Given the description of an element on the screen output the (x, y) to click on. 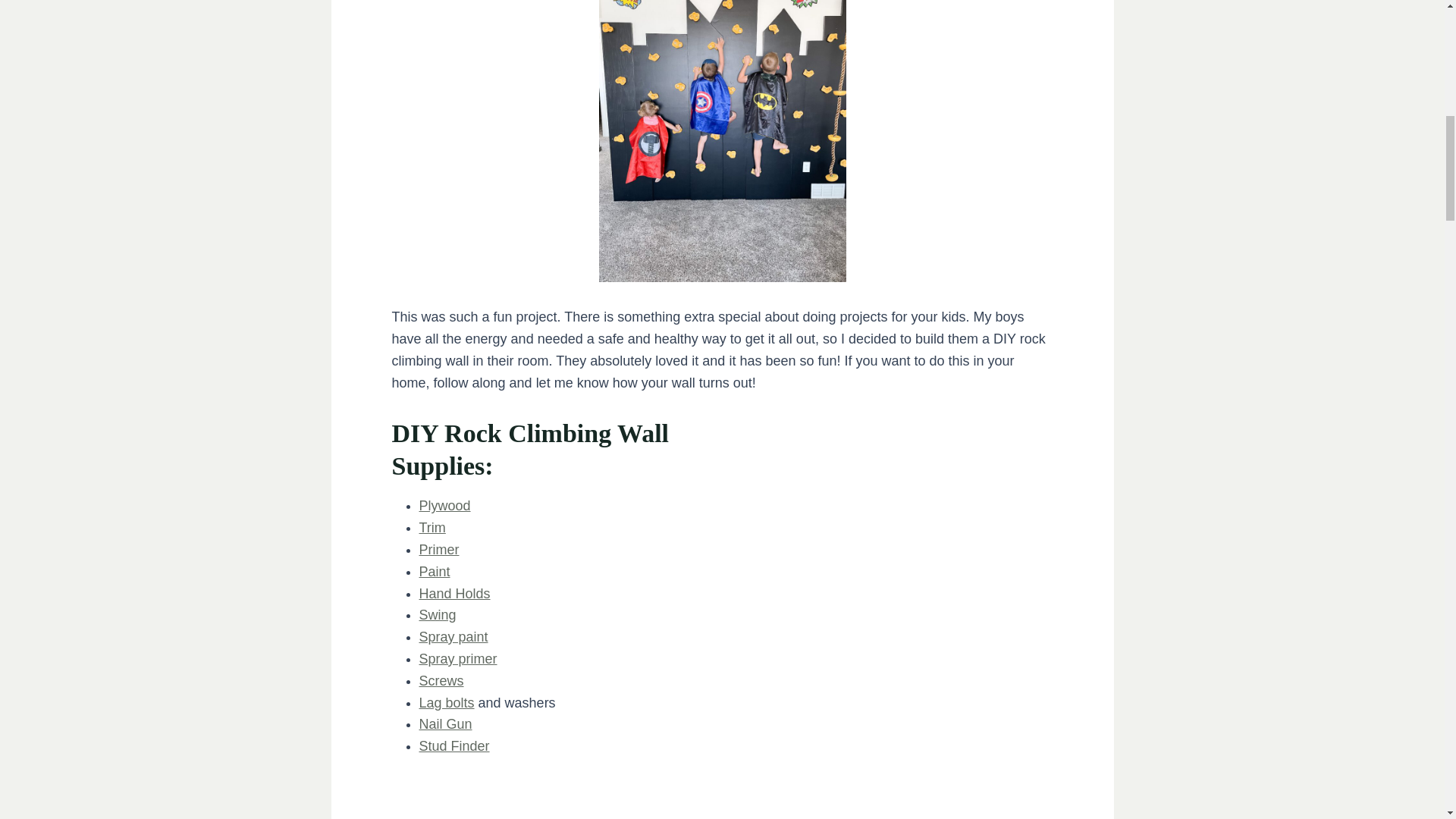
Screws (441, 680)
Spray paint (453, 636)
Paint (434, 571)
Spray primer (457, 658)
Plywood (444, 505)
Nail Gun (445, 724)
Hand Holds (454, 593)
Trim (432, 527)
Swing (437, 614)
Stud Finder (454, 745)
